Given the description of an element on the screen output the (x, y) to click on. 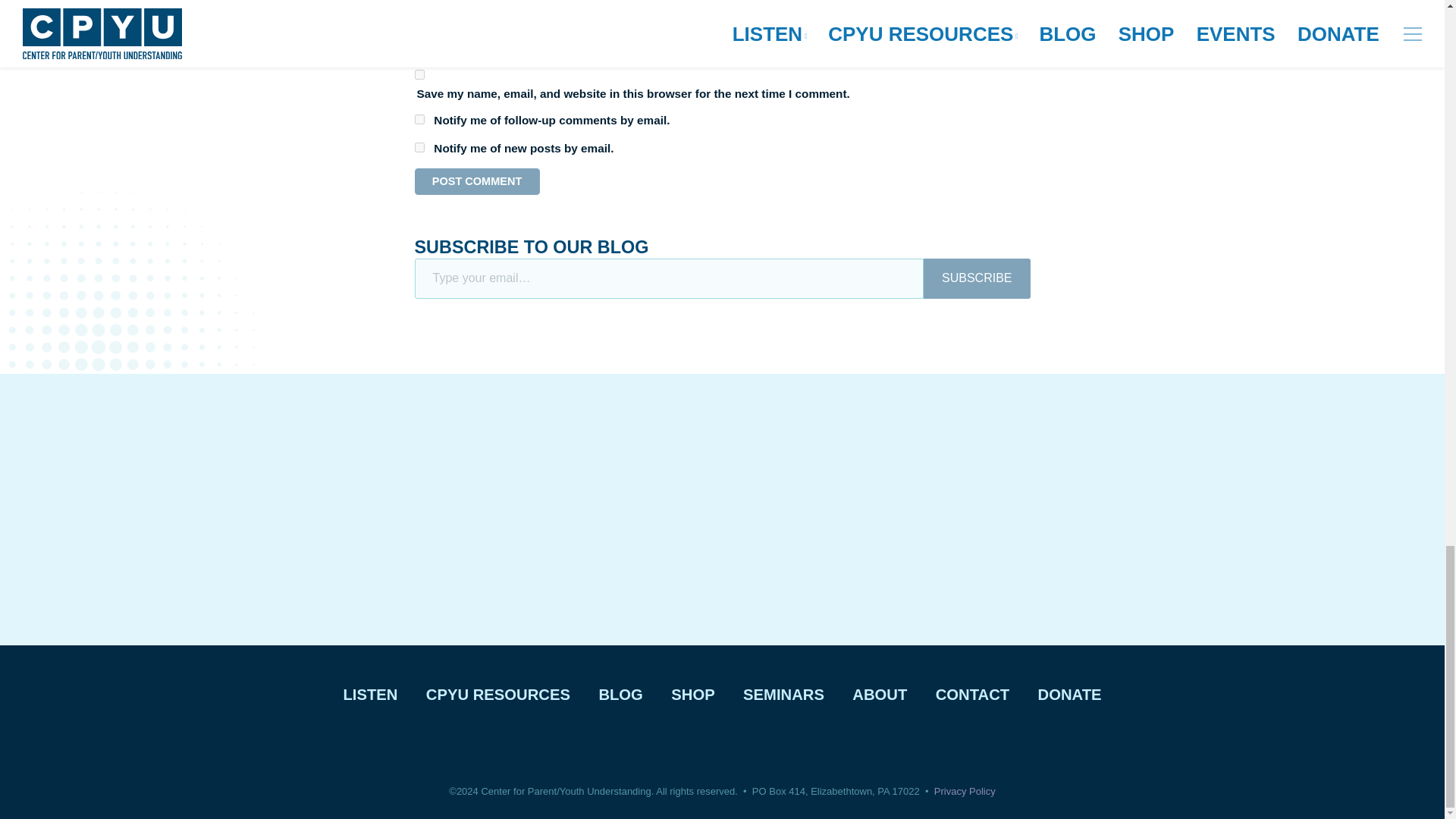
yes (418, 74)
subscribe (418, 119)
Post Comment (475, 181)
Please fill in this field. (668, 278)
subscribe (418, 147)
